Given the description of an element on the screen output the (x, y) to click on. 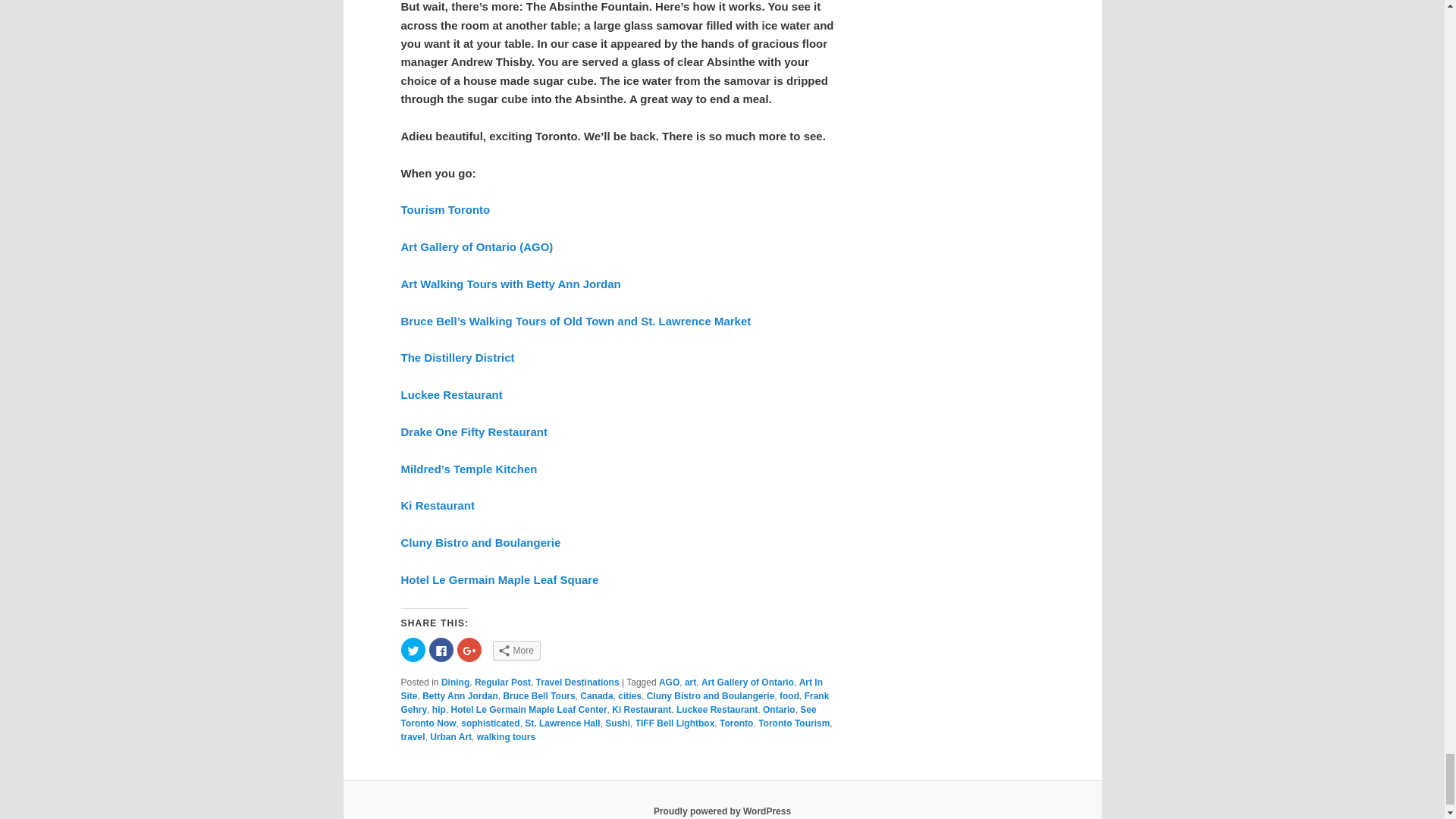
Cluny Bistro and Boulangerie (480, 542)
Ki Restaurant (437, 504)
Click to share on Facebook (440, 649)
Art Walking Tours with Betty Ann Jordan (510, 283)
The Distillery District (456, 357)
Luckee Restaurant (451, 394)
Click to share on Twitter (412, 649)
Tourism Toronto (444, 209)
Semantic Personal Publishing Platform (721, 810)
Drake One Fifty Restaurant (473, 431)
More (516, 650)
Hotel Le Germain Maple Leaf Square (499, 579)
